Given the description of an element on the screen output the (x, y) to click on. 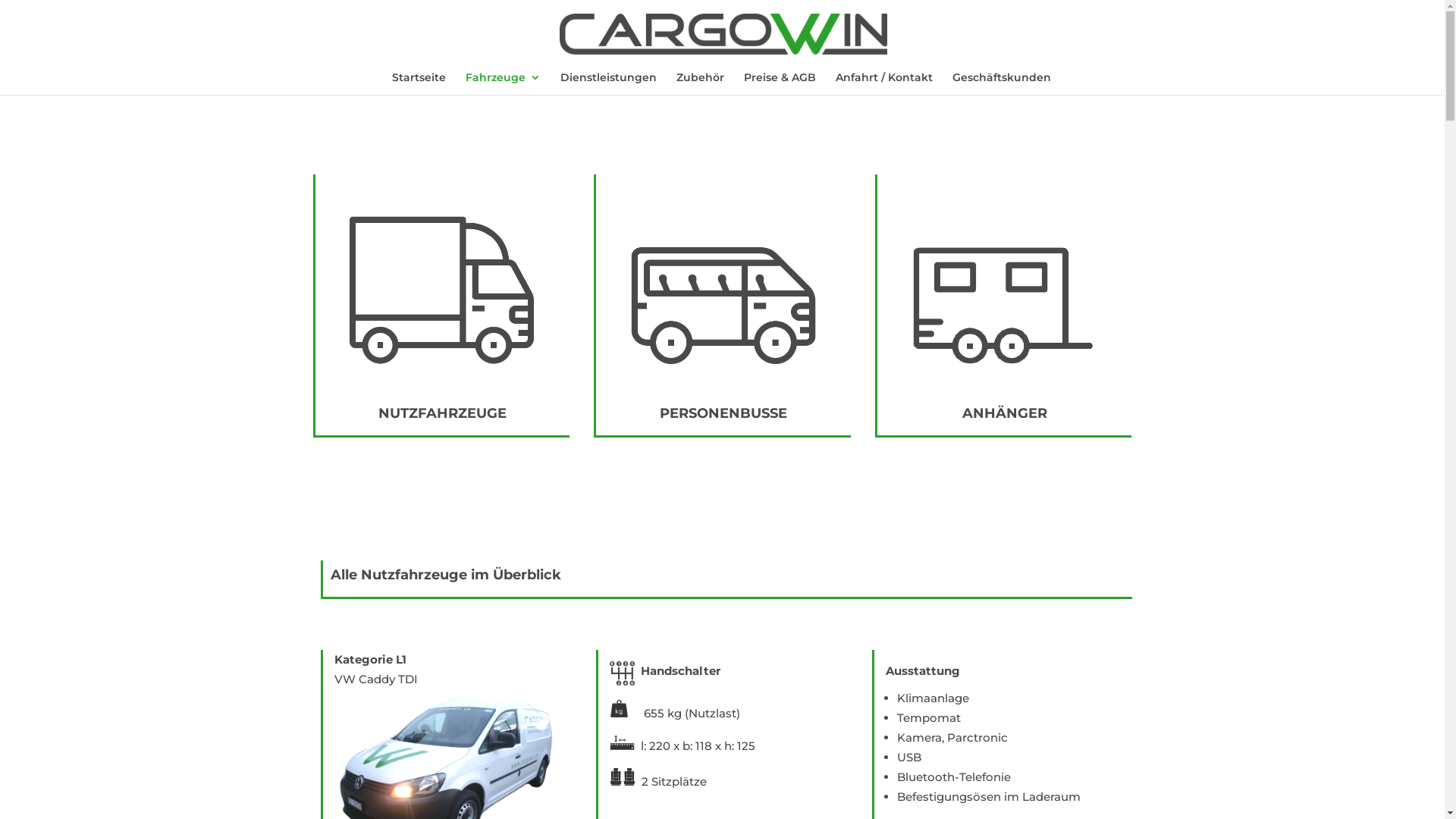
Dienstleistungen Element type: text (608, 83)
Preise & AGB Element type: text (779, 83)
Fahrzeuge Element type: text (502, 83)
Anfahrt / Kontakt Element type: text (883, 83)
Startseite Element type: text (418, 83)
